Given the description of an element on the screen output the (x, y) to click on. 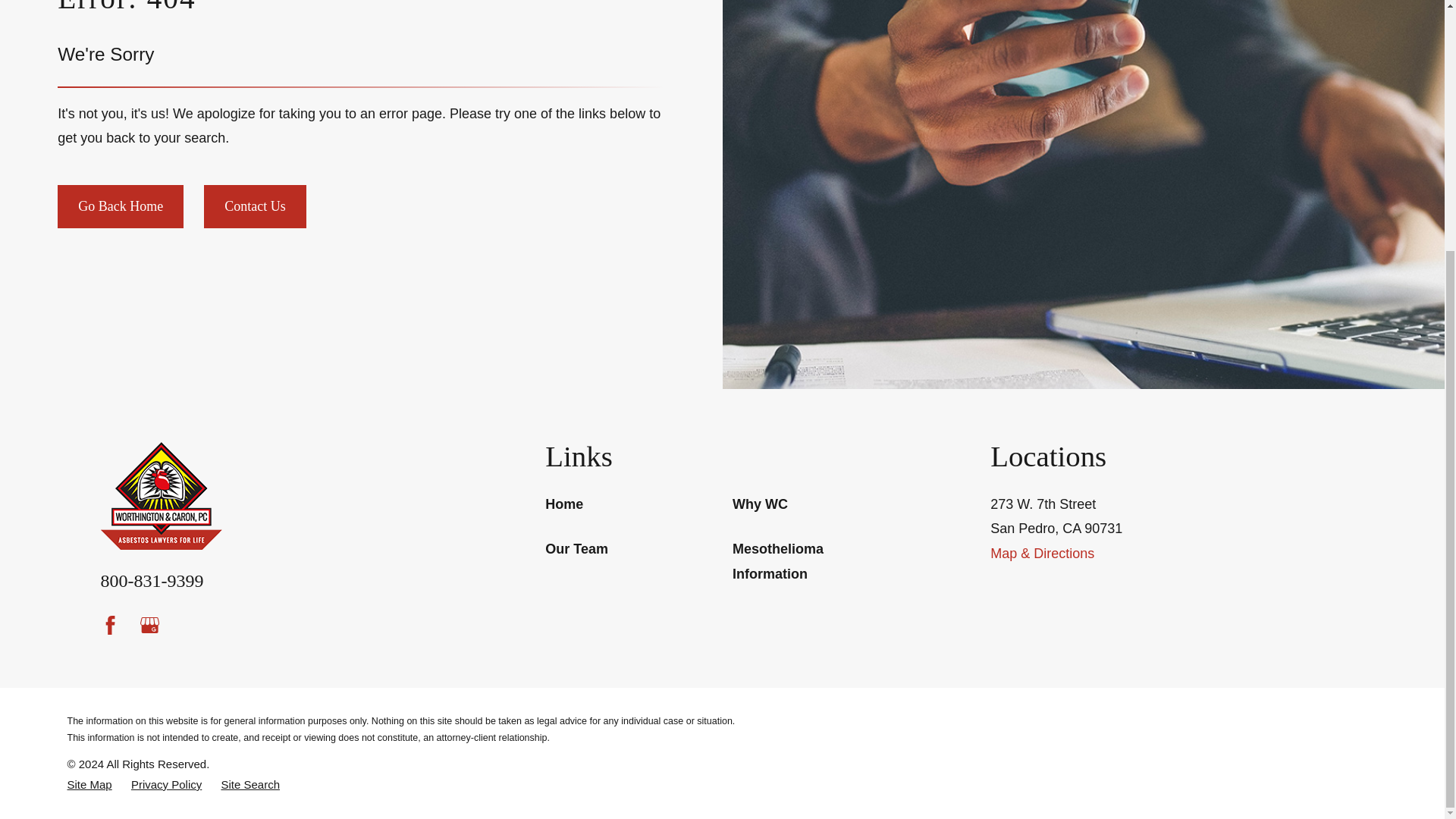
Facebook (109, 624)
Home (276, 495)
Google Business Profile (148, 624)
